Given the description of an element on the screen output the (x, y) to click on. 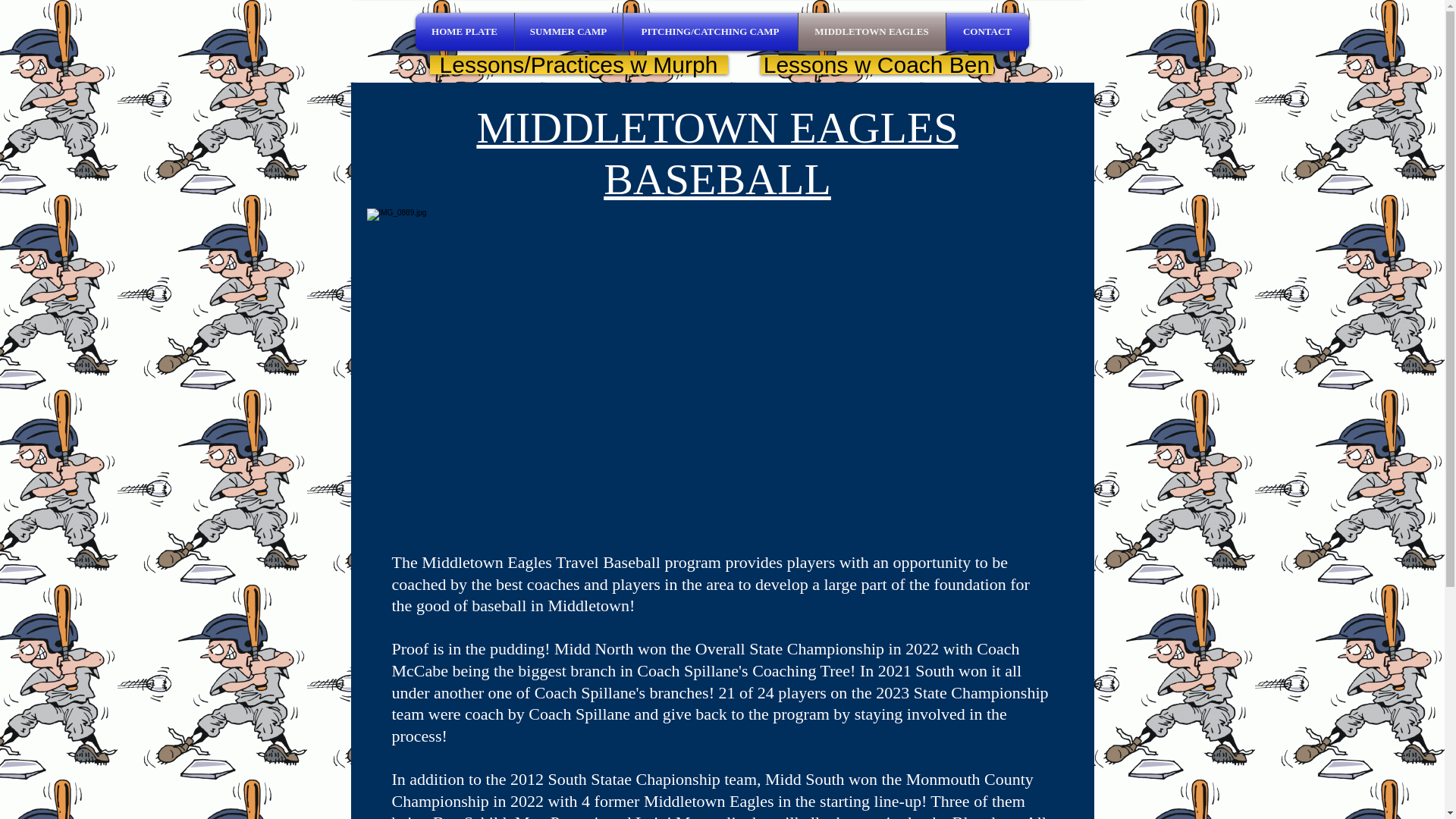
CONTACT (987, 31)
SUMMER CAMP (567, 31)
Lessons w Coach Ben (876, 64)
MIDDLETOWN EAGLES BASEBALL (717, 153)
MIDDLETOWN EAGLES (870, 31)
HOME PLATE (463, 31)
